Given the description of an element on the screen output the (x, y) to click on. 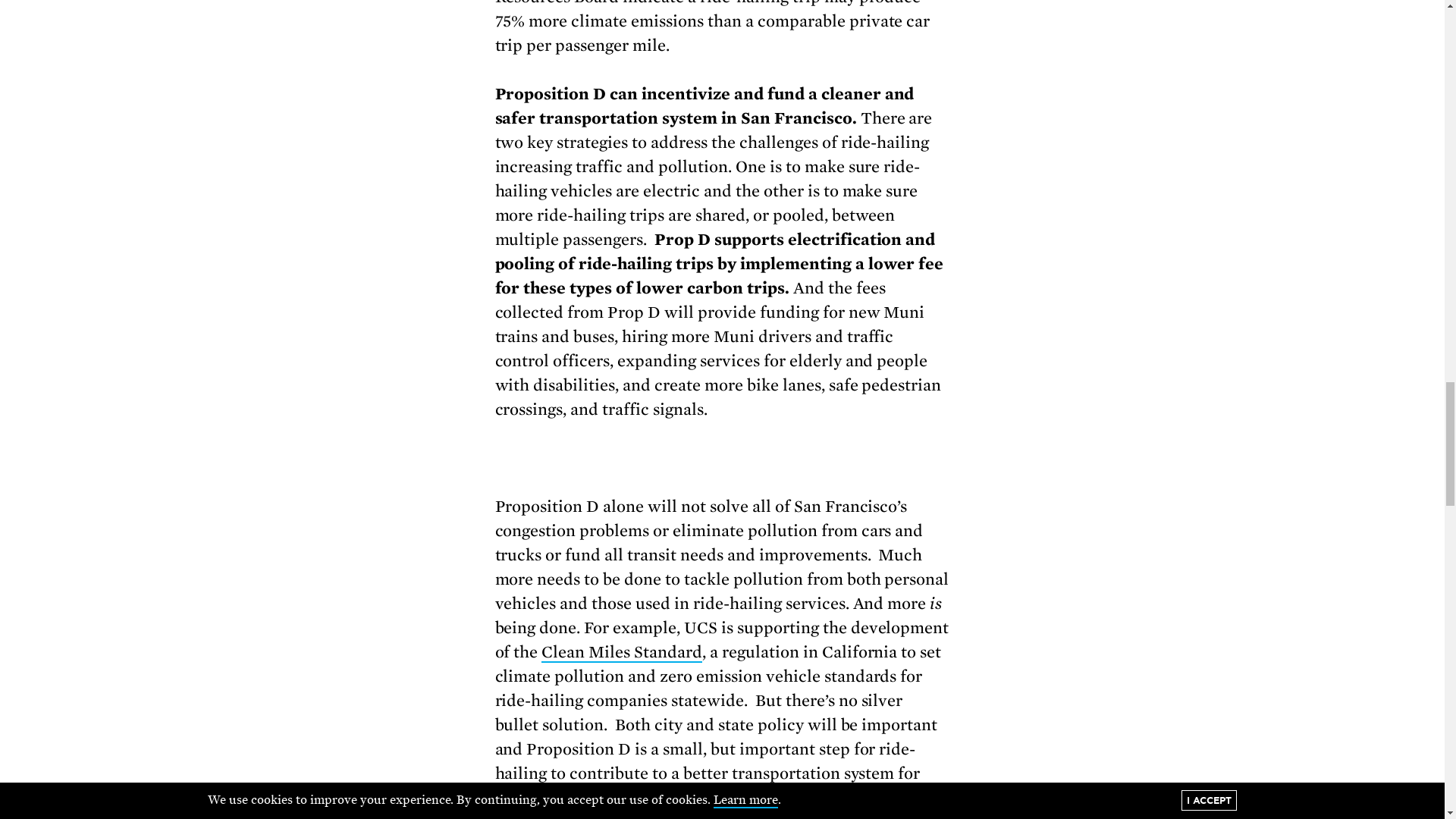
Clean Miles Standard (621, 652)
